Given the description of an element on the screen output the (x, y) to click on. 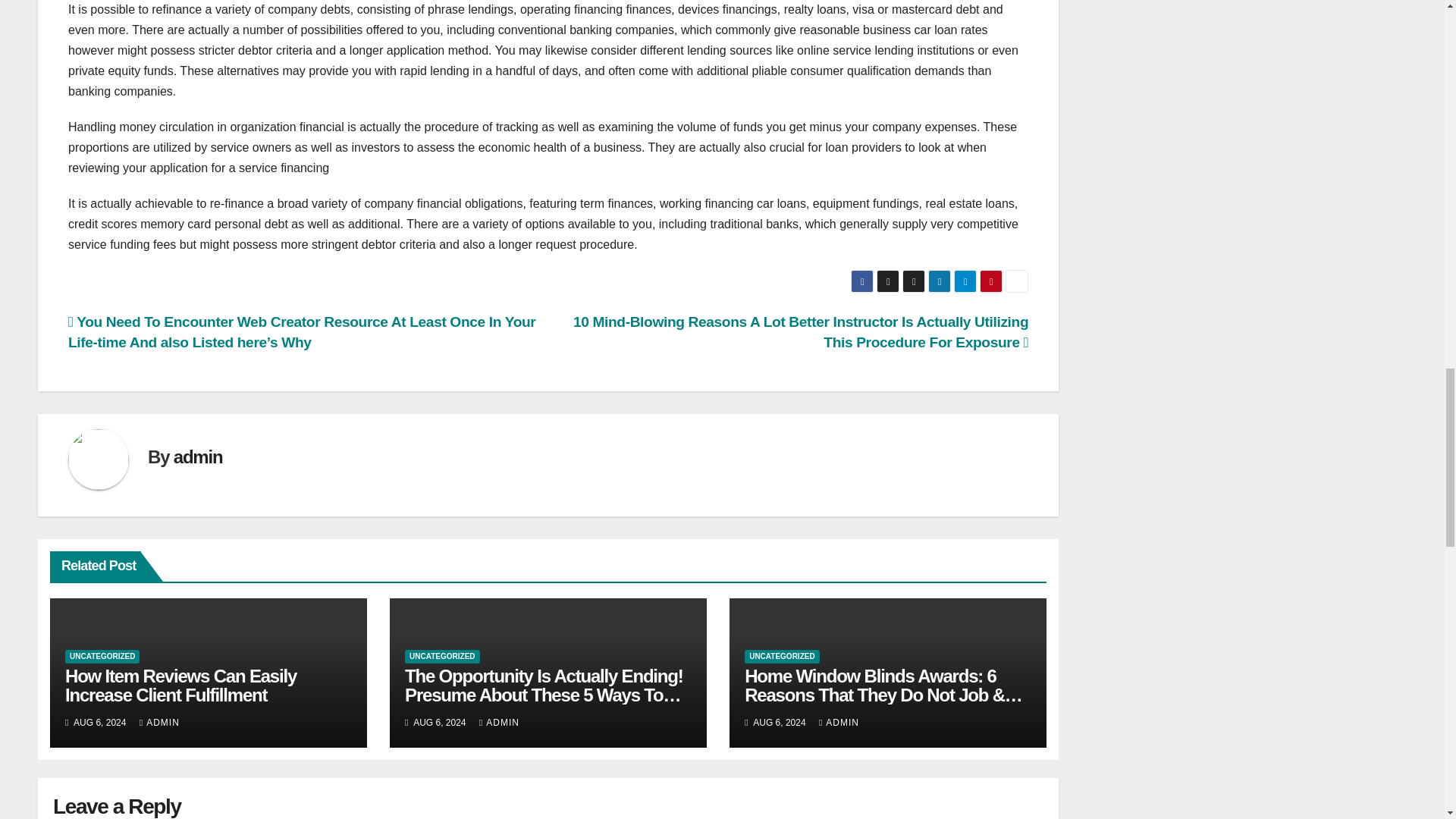
ADMIN (159, 722)
admin (197, 456)
UNCATEGORIZED (441, 656)
ADMIN (838, 722)
UNCATEGORIZED (781, 656)
ADMIN (499, 722)
UNCATEGORIZED (102, 656)
How Item Reviews Can Easily Increase Client Fulfillment (181, 685)
